Given the description of an element on the screen output the (x, y) to click on. 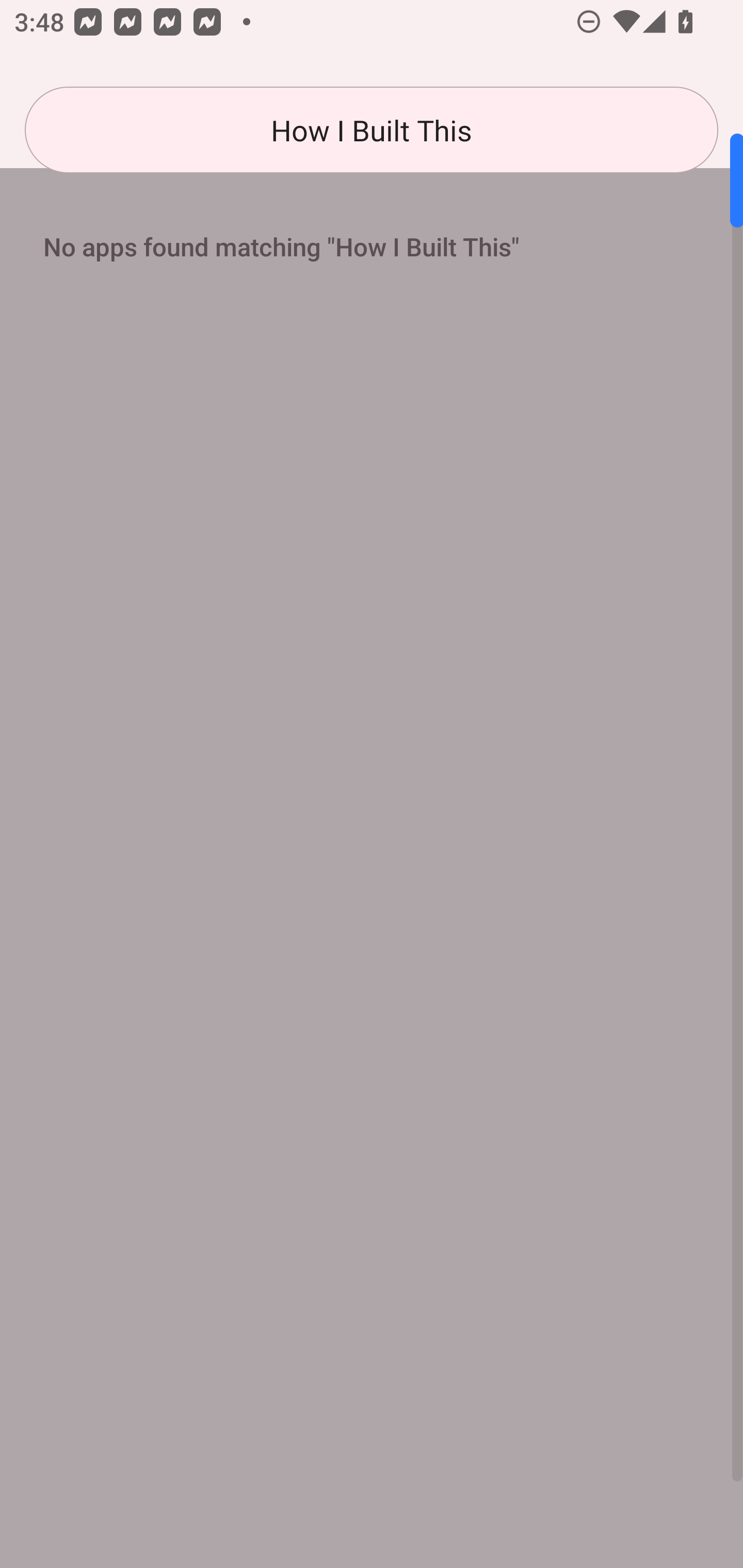
How I Built This (371, 130)
